Given the description of an element on the screen output the (x, y) to click on. 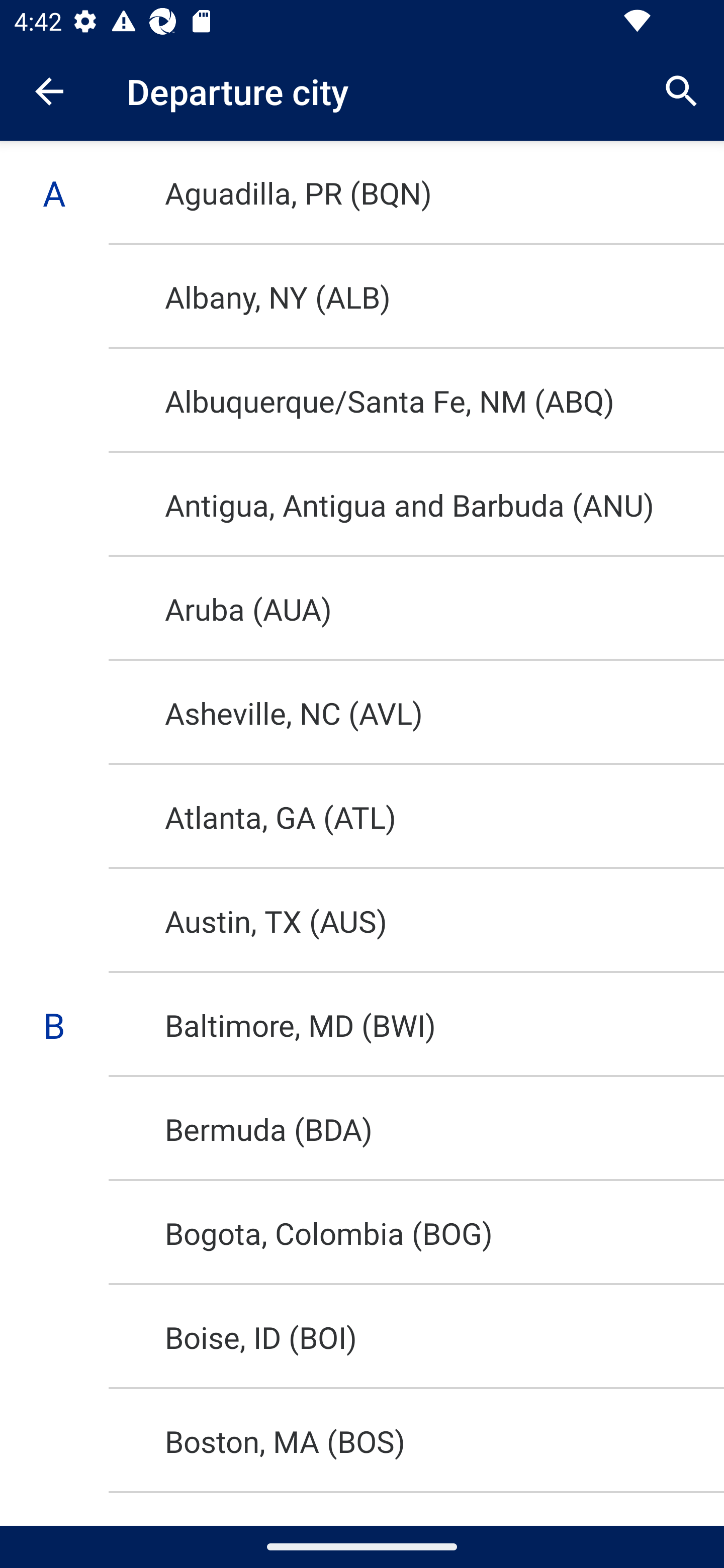
Navigate up (49, 91)
Search (681, 90)
Aguadilla, PR (BQN)  Aguadilla, PR (BQN) @{ (362, 192)
Albany, NY (ALB)  Albany, NY (ALB) @{ (362, 296)
Aruba (AUA) Mint Aruba (AUA) @{ (362, 608)
Asheville, NC (AVL)  Asheville, NC (AVL) @{ (362, 712)
Atlanta, GA (ATL)  Atlanta, GA (ATL) @{ (362, 816)
Austin, TX (AUS)  Austin, TX (AUS) @{ (362, 920)
Baltimore, MD (BWI)  Baltimore, MD (BWI) @{ (362, 1025)
Bermuda (BDA)  Bermuda (BDA) @{ (362, 1128)
Bogota, Colombia (BOG)  Bogota, Colombia (BOG) @{ (362, 1232)
Boise, ID (BOI)  Boise, ID (BOI) @{ (362, 1337)
Boston, MA (BOS) Mint Boston, MA (BOS) @{ (362, 1440)
